Given the description of an element on the screen output the (x, y) to click on. 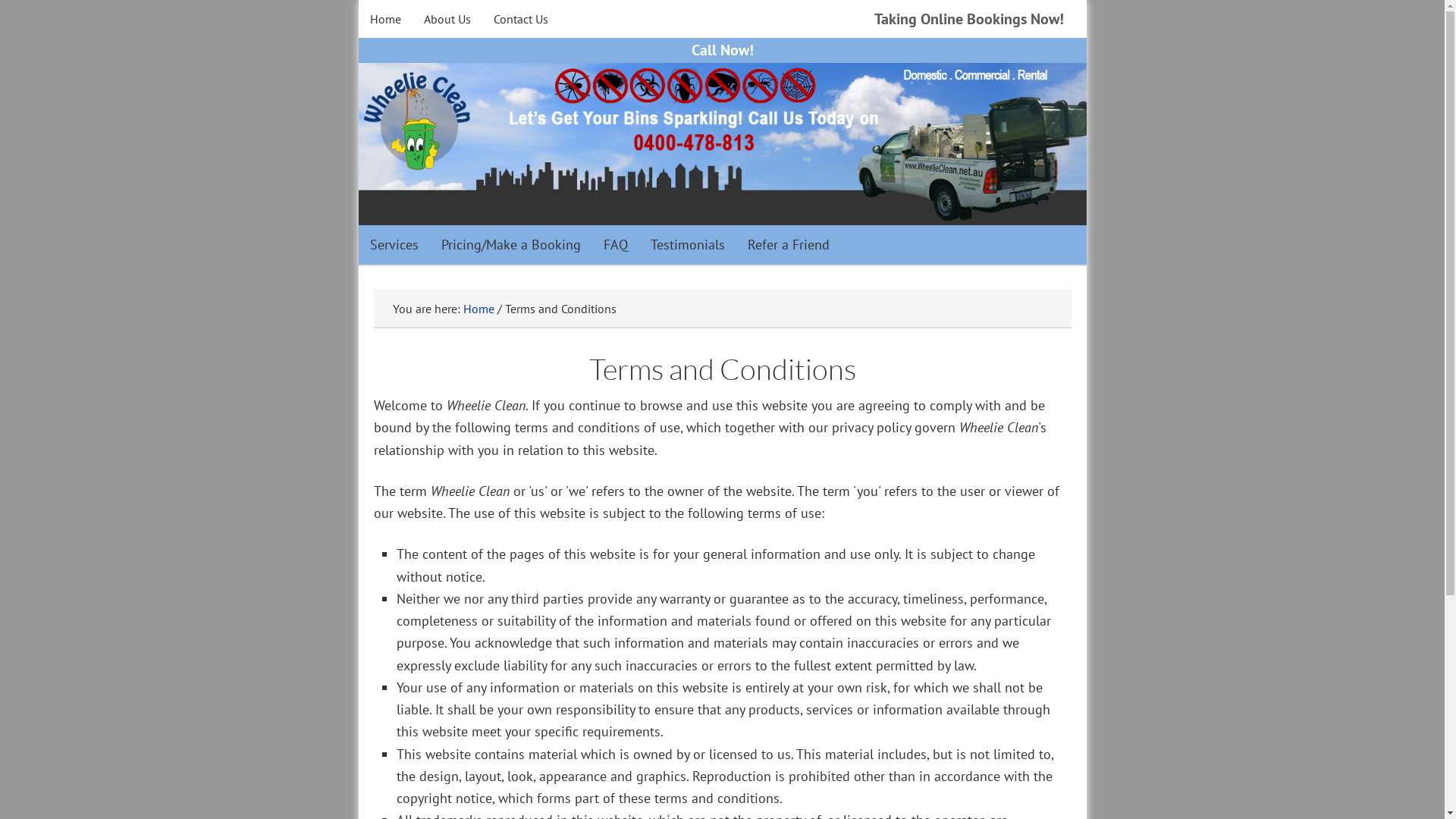
Pricing/Make a Booking Element type: text (510, 243)
Refer a Friend Element type: text (787, 243)
Home Element type: text (477, 307)
Contact Us Element type: text (520, 18)
FAQ Element type: text (614, 243)
Services Element type: text (393, 243)
Testimonials Element type: text (686, 243)
Home Element type: text (384, 18)
Wheelie Clean Element type: text (721, 143)
About Us Element type: text (447, 18)
